Given the description of an element on the screen output the (x, y) to click on. 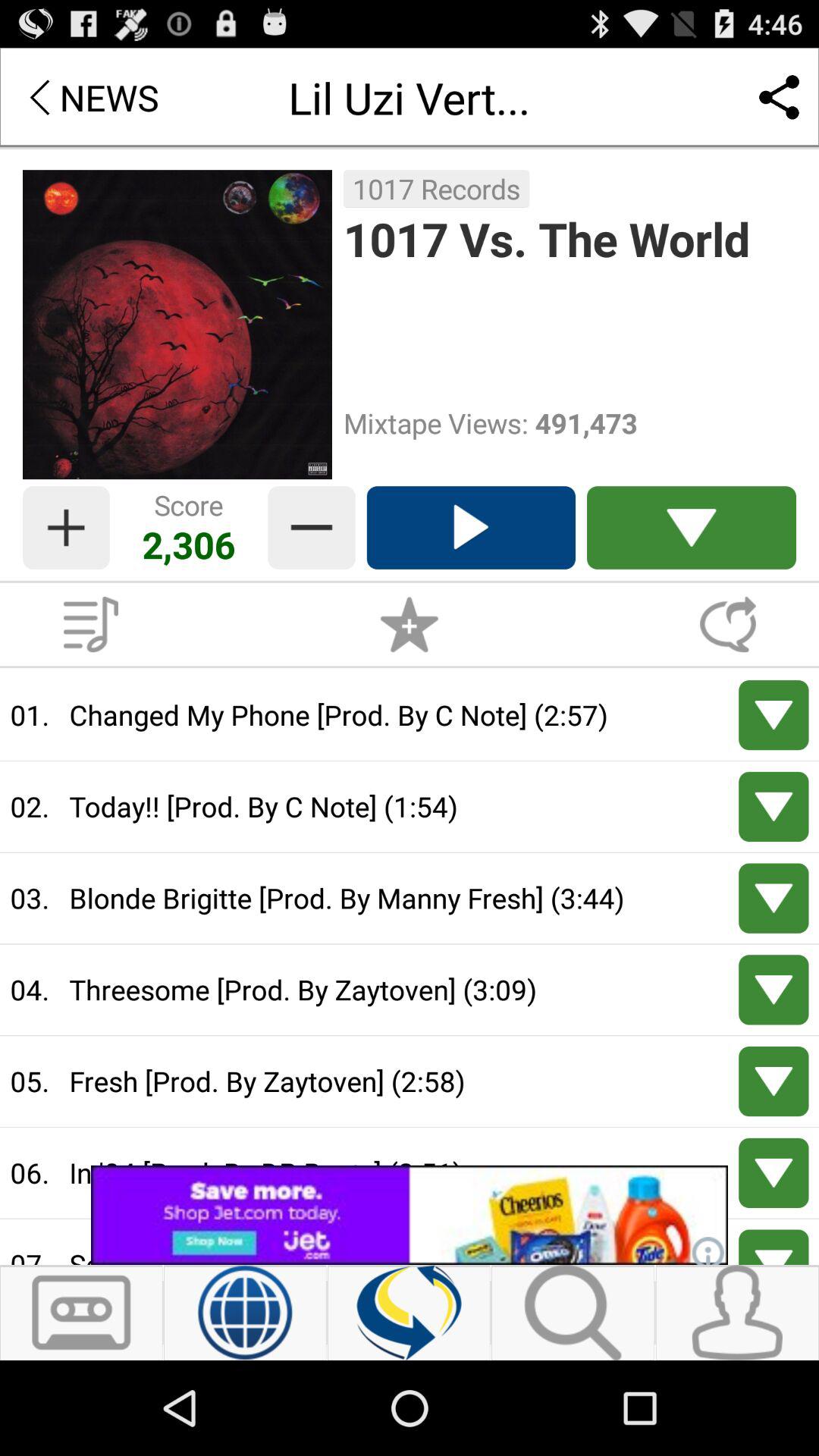
play song (470, 527)
